Given the description of an element on the screen output the (x, y) to click on. 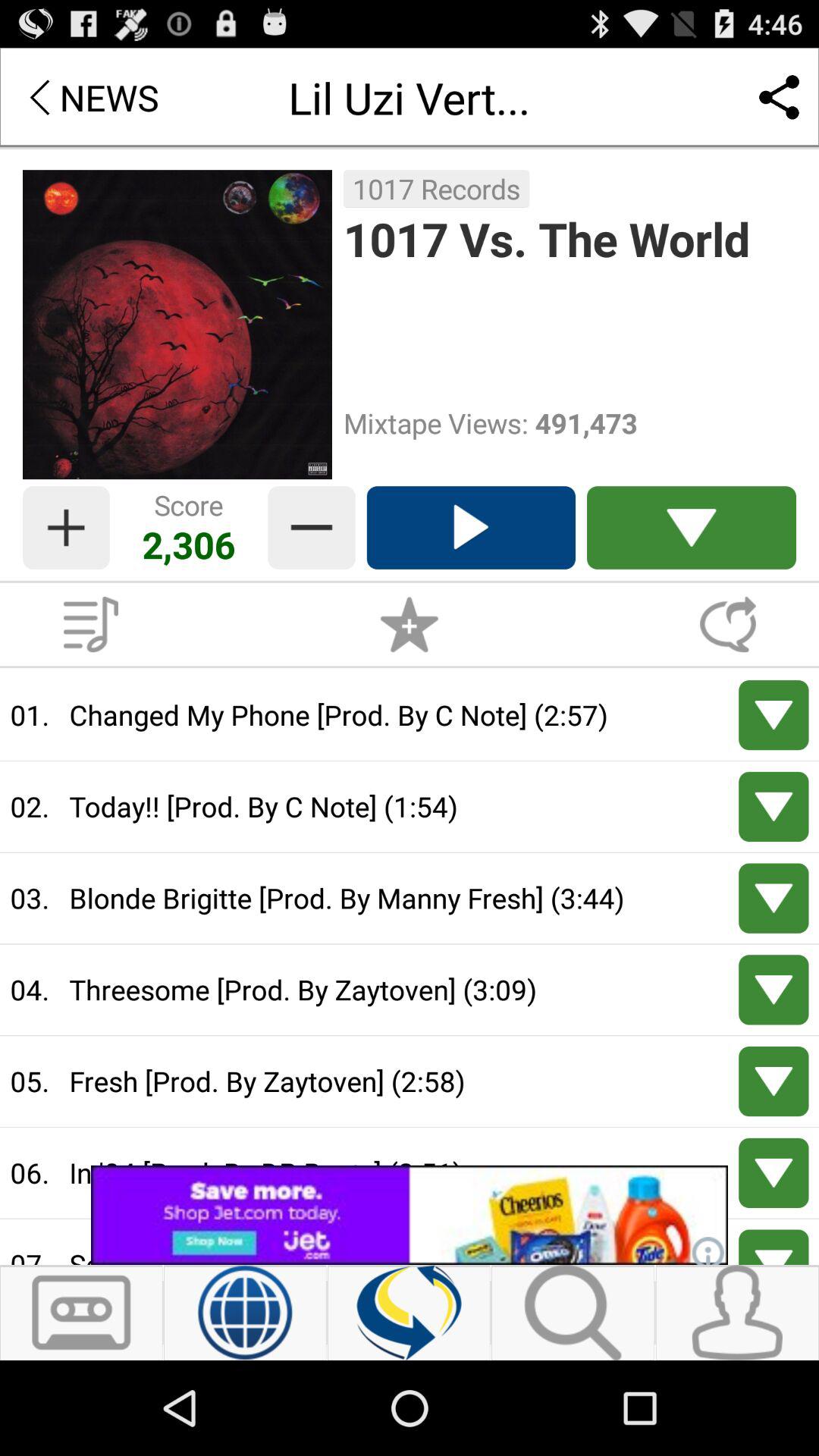
play song (470, 527)
